Given the description of an element on the screen output the (x, y) to click on. 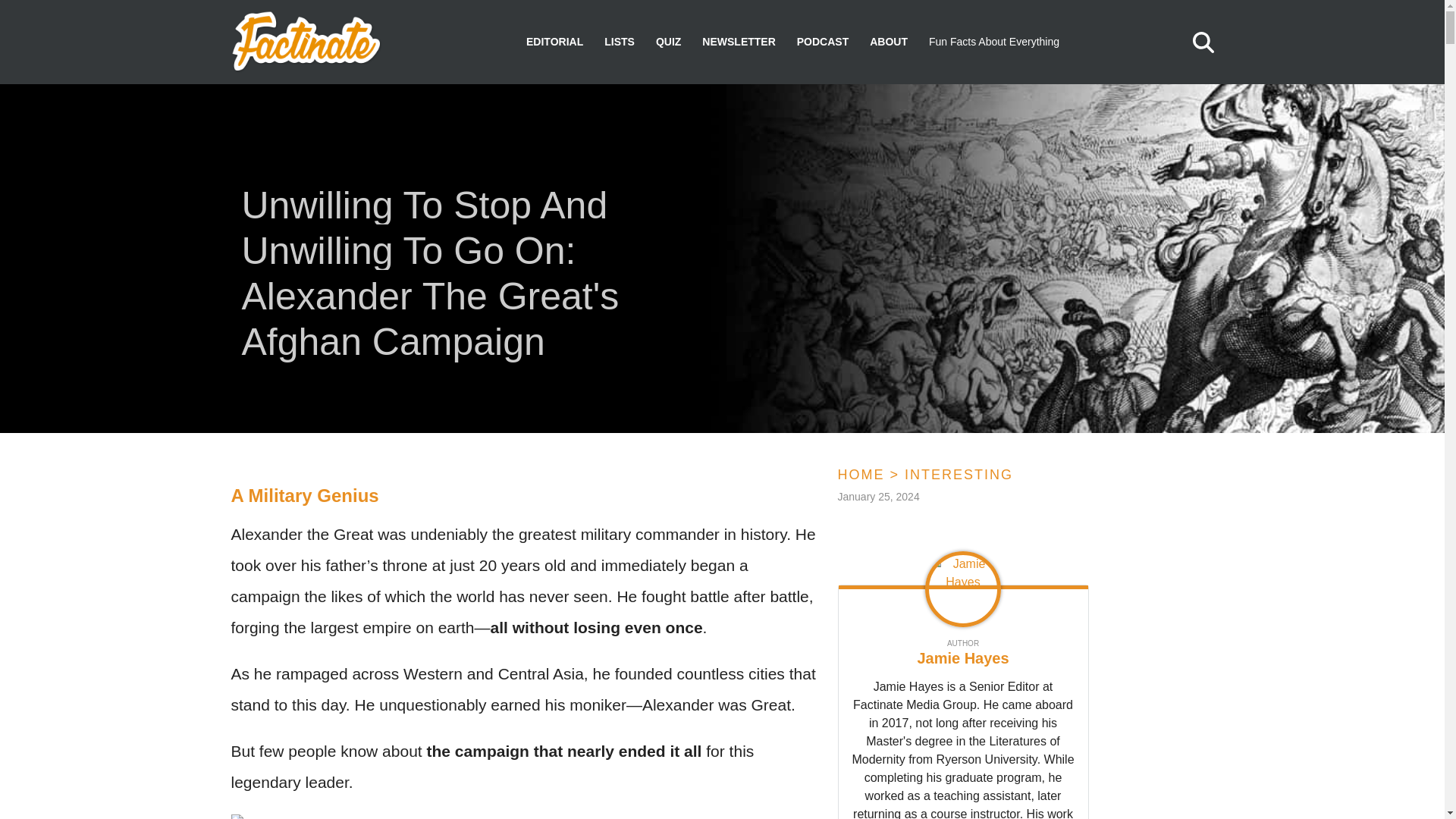
QUIZ (668, 41)
LISTS (619, 41)
NEWSLETTER (737, 41)
ABOUT (888, 41)
PODCAST (822, 41)
EDITORIAL (554, 41)
